Given the description of an element on the screen output the (x, y) to click on. 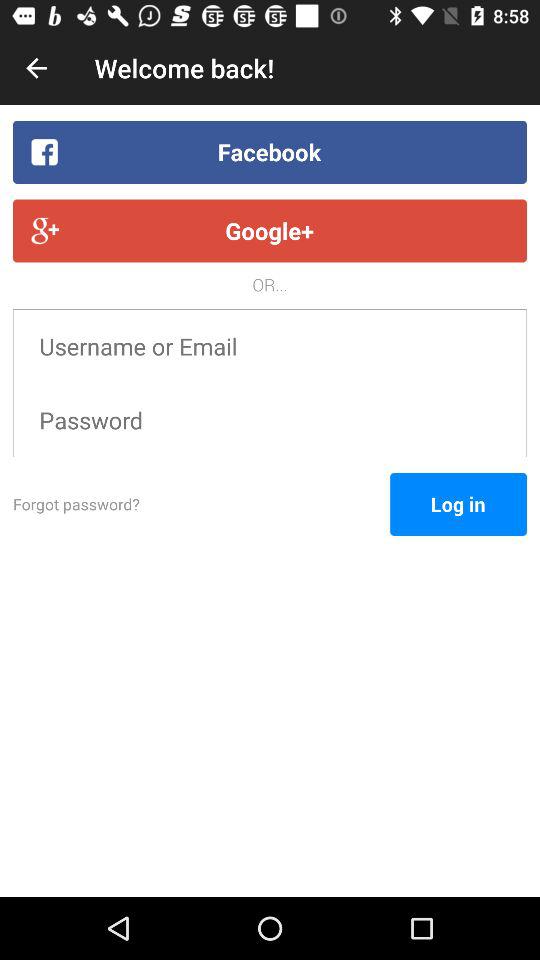
tap the item to the right of the forgot password? (458, 503)
